Given the description of an element on the screen output the (x, y) to click on. 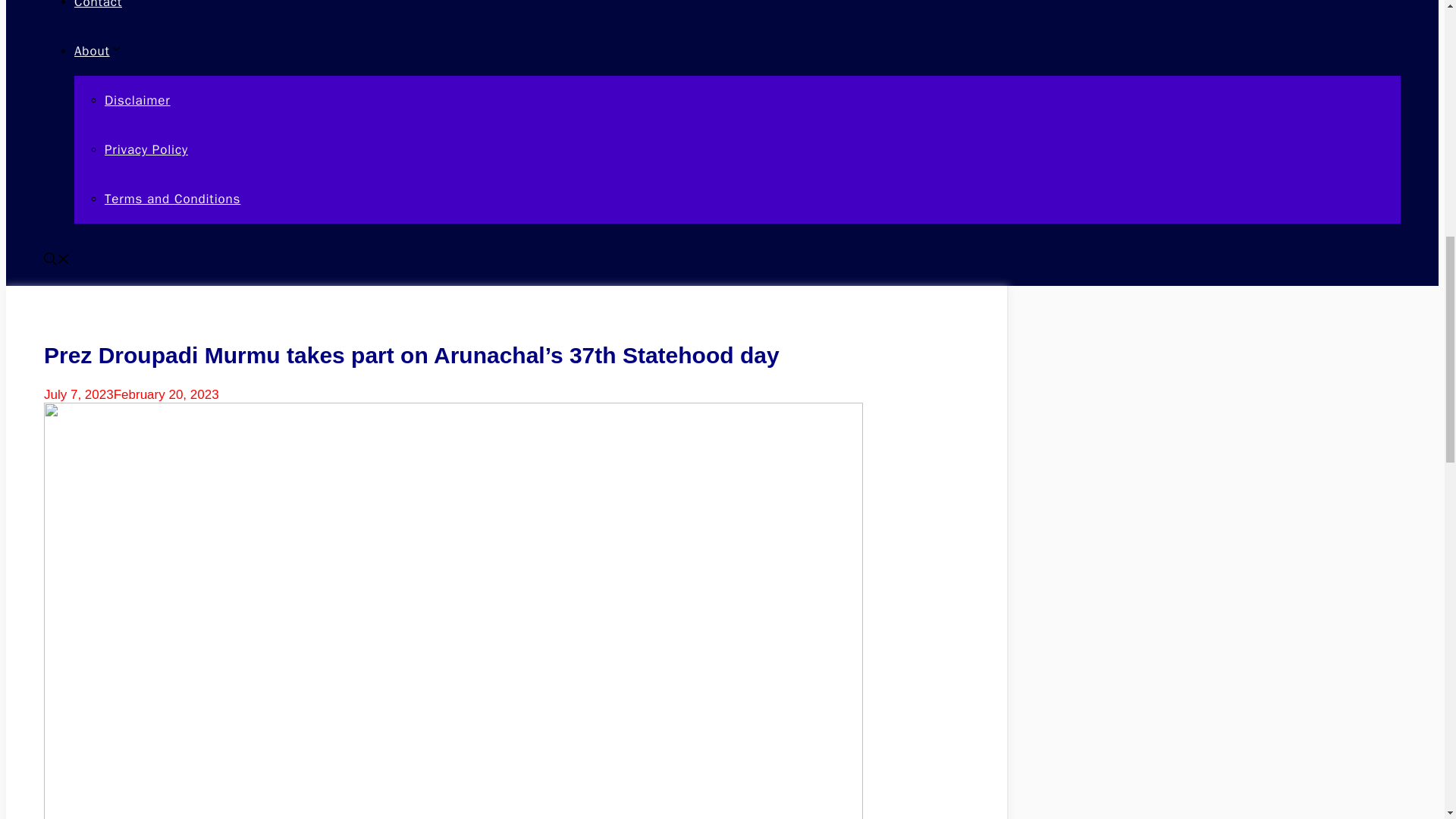
About (98, 50)
Terms and Conditions (172, 198)
Disclaimer (137, 100)
Contact (98, 4)
Privacy Policy (145, 149)
